Given the description of an element on the screen output the (x, y) to click on. 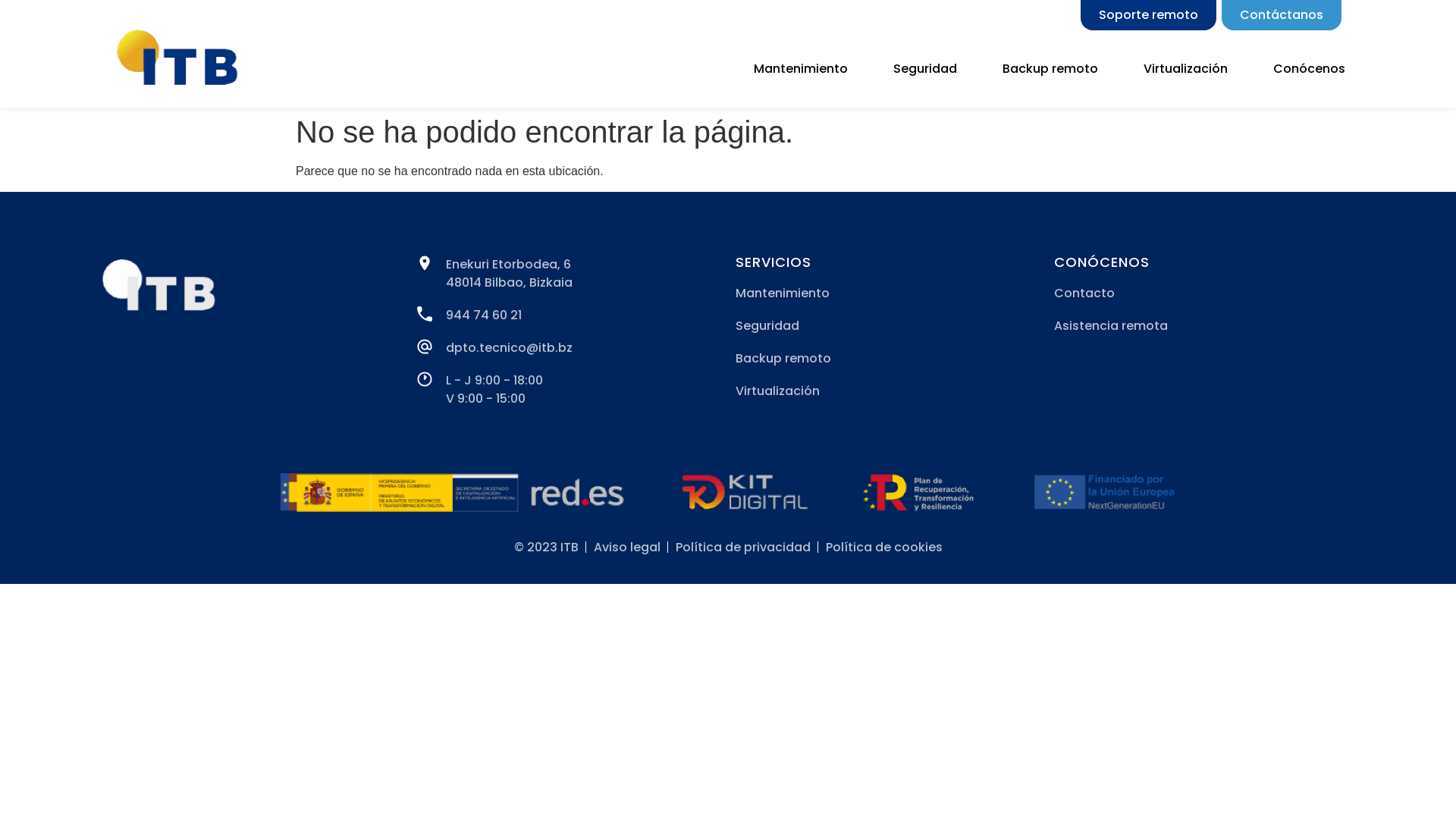
dpto.tecnico@itb.bz Element type: text (568, 347)
Soporte remoto Element type: text (1148, 15)
Contacto Element type: text (1205, 293)
Seguridad Element type: text (924, 68)
944 74 60 21 Element type: text (568, 315)
Asistencia remota Element type: text (1205, 325)
Backup remoto Element type: text (886, 358)
Mantenimiento Element type: text (886, 293)
Backup remoto Element type: text (1049, 68)
Mantenimiento Element type: text (800, 68)
Seguridad Element type: text (886, 325)
